Given the description of an element on the screen output the (x, y) to click on. 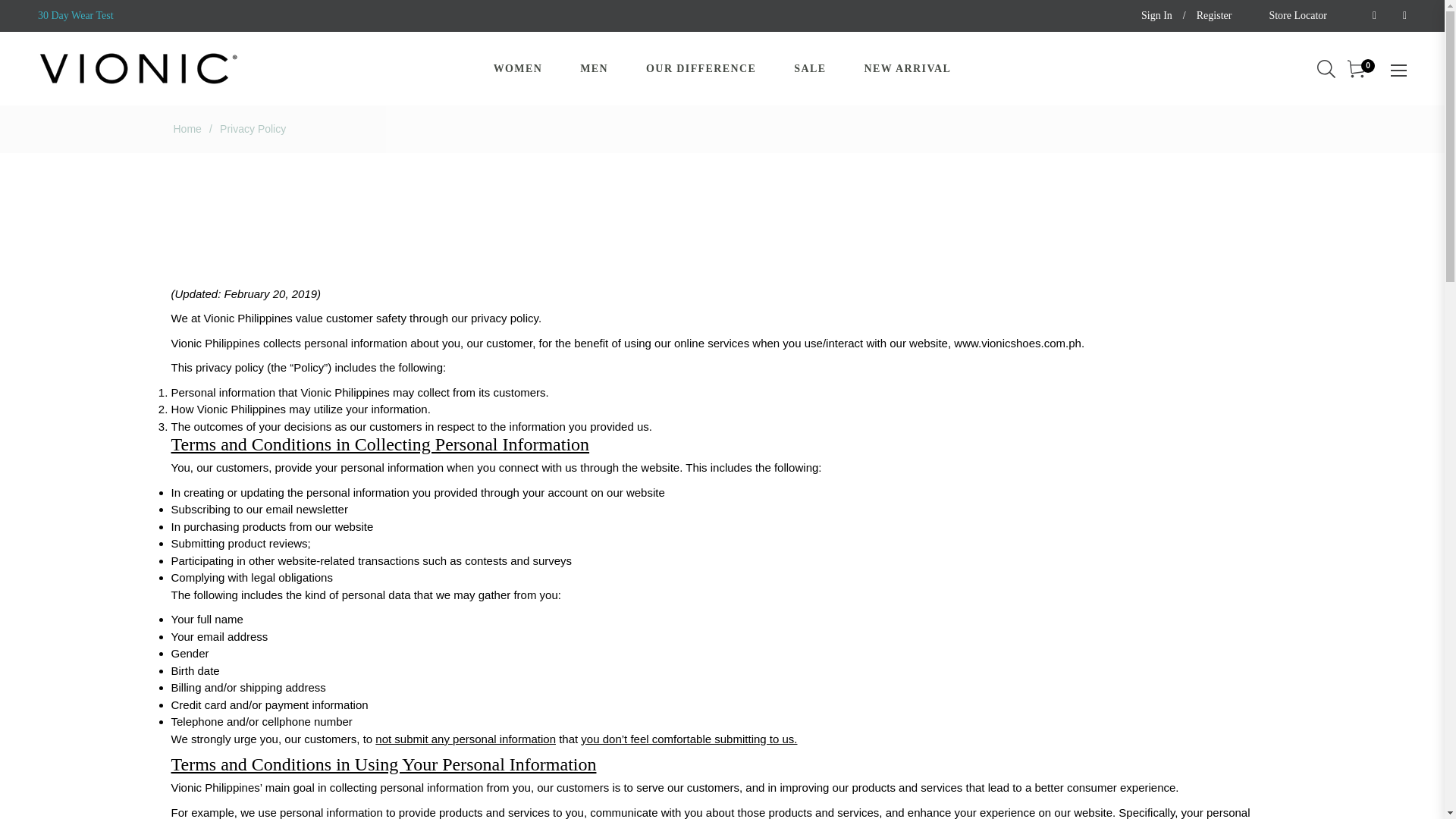
Register (1213, 15)
Vionic Philippines on Facebook (1369, 15)
Sign In (1156, 15)
30 Day Wear Test (75, 15)
Vionic Philippines on Instagram (1400, 15)
WOMEN (518, 68)
OUR DIFFERENCE (700, 68)
Store Locator (1297, 15)
MEN (593, 68)
Shopping Cart (1356, 68)
Home (187, 128)
